Given the description of an element on the screen output the (x, y) to click on. 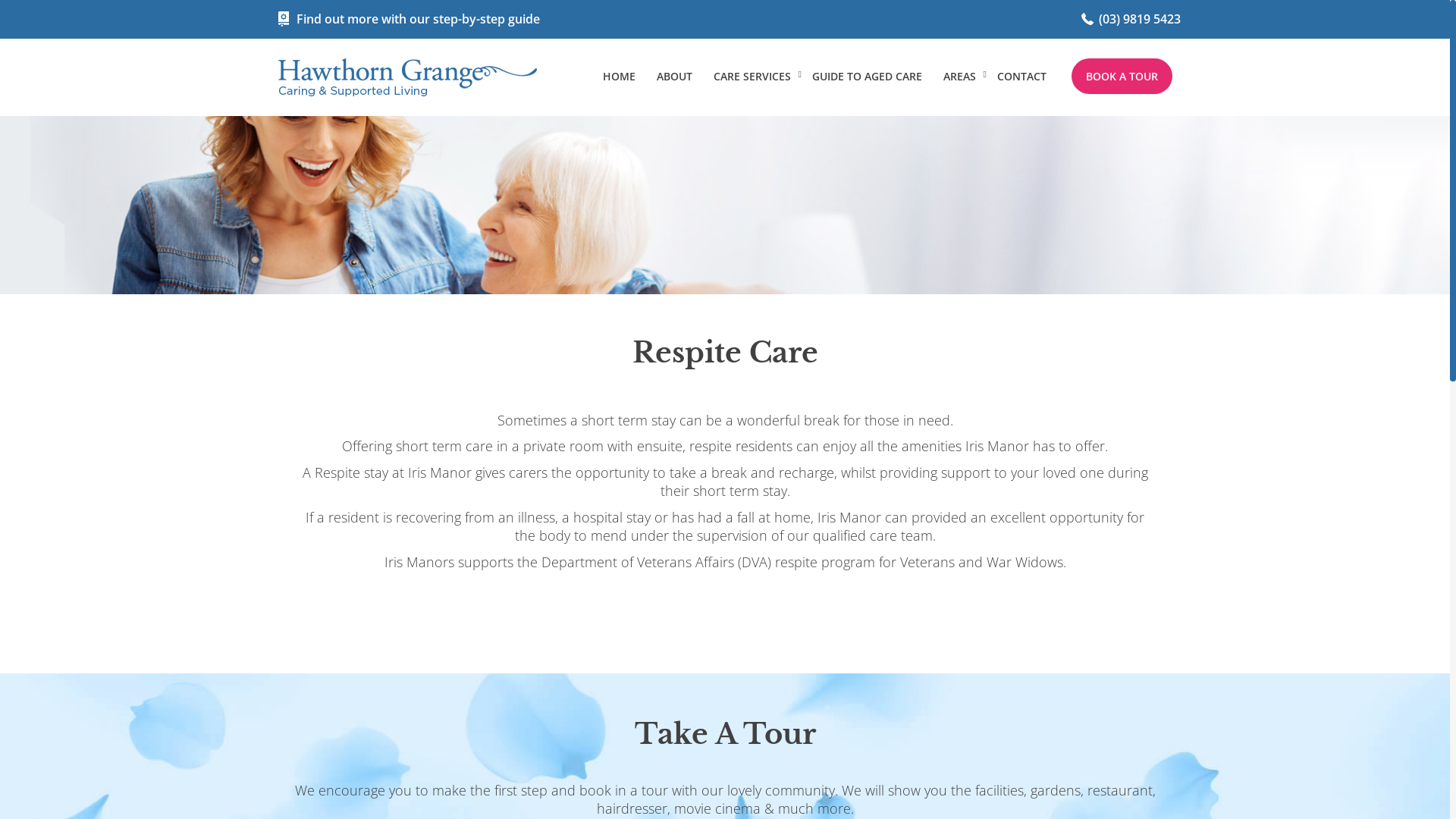
AREAS Element type: text (959, 75)
GUIDE TO AGED CARE Element type: text (866, 75)
CONTACT Element type: text (1021, 75)
HOME Element type: text (619, 75)
CARE SERVICES Element type: text (751, 75)
(03) 9819 5423 Element type: text (1131, 18)
BOOK A TOUR Element type: text (1120, 76)
ABOUT Element type: text (674, 75)
